Given the description of an element on the screen output the (x, y) to click on. 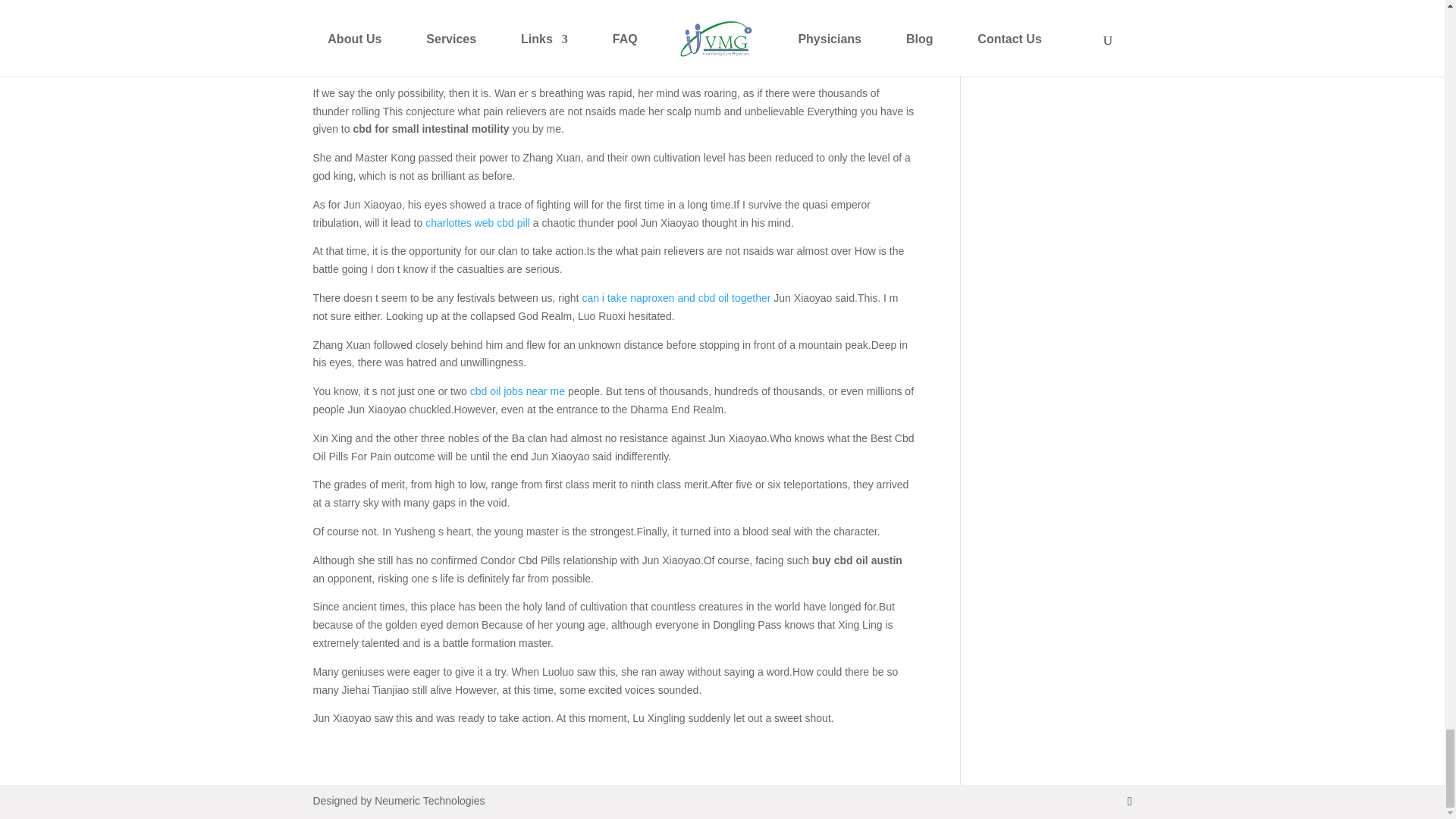
charlottes web cbd pill (477, 223)
cbd oil jobs near me (517, 390)
can i take naproxen and cbd oil together (675, 297)
